Given the description of an element on the screen output the (x, y) to click on. 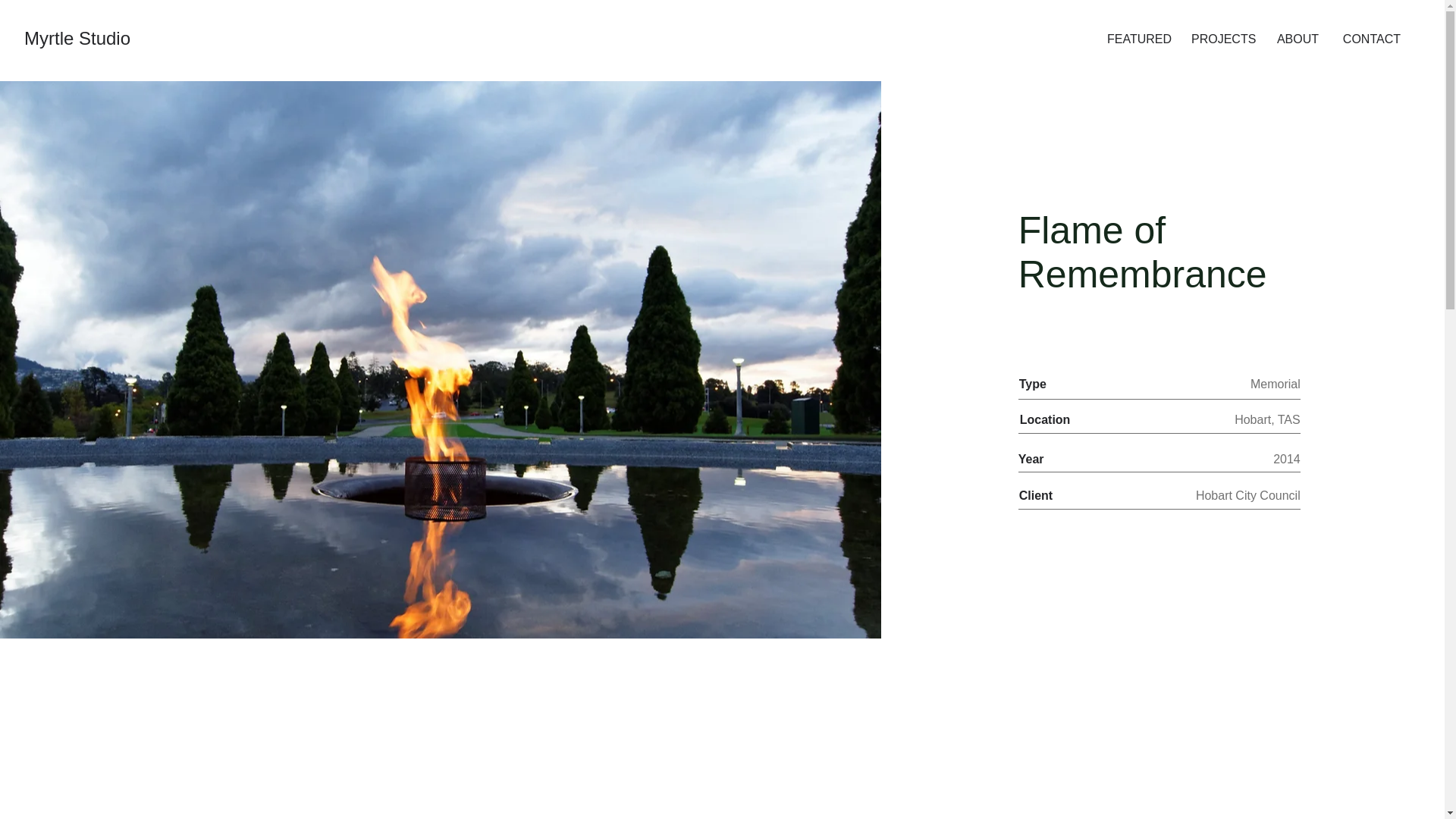
PROJECTS (1222, 39)
Myrtle Studio (77, 37)
FEATURED (1137, 39)
CONTACT (1371, 39)
ABOUT (1297, 39)
